Given the description of an element on the screen output the (x, y) to click on. 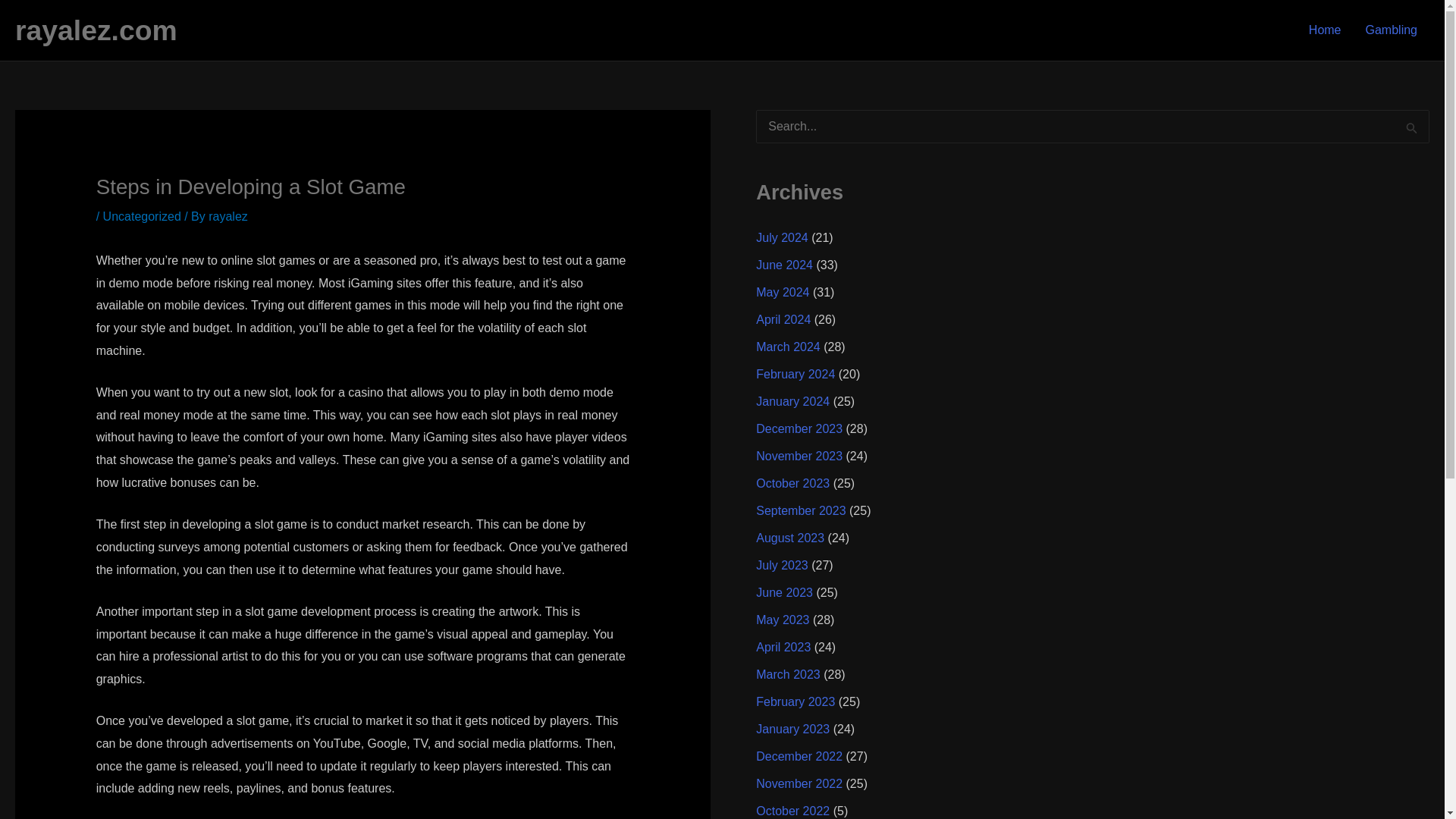
June 2024 (783, 264)
March 2024 (788, 346)
October 2023 (792, 482)
April 2024 (782, 318)
November 2022 (799, 783)
December 2023 (799, 428)
January 2023 (792, 728)
rayalez.com (95, 29)
Home (1325, 30)
July 2024 (781, 237)
May 2023 (782, 619)
View all posts by rayalez (227, 215)
June 2023 (783, 592)
October 2022 (792, 810)
February 2023 (794, 701)
